Given the description of an element on the screen output the (x, y) to click on. 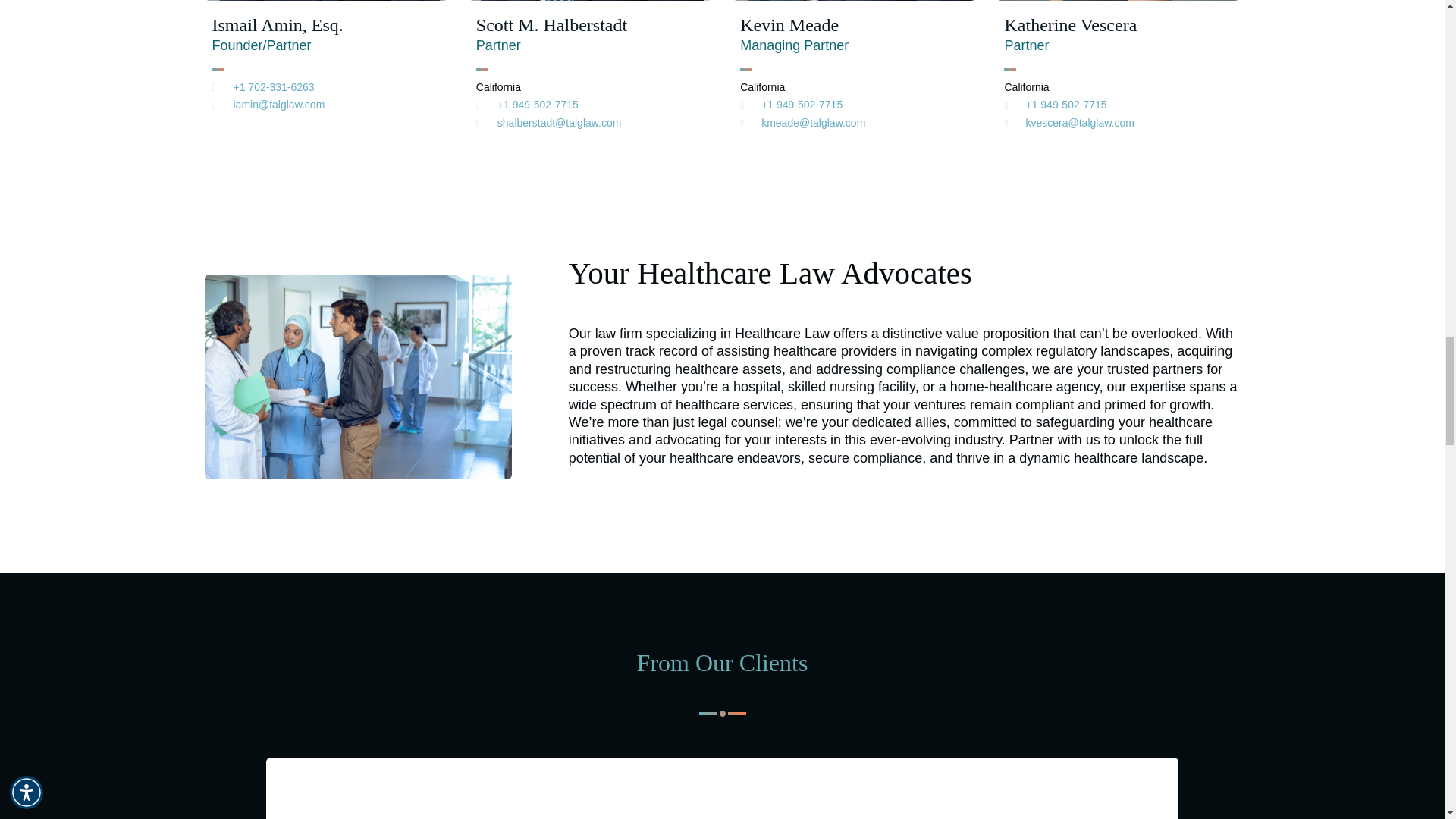
Scott M. Halberstadt (551, 25)
Kevin Meade (788, 25)
Ismail Amin, Esq. (277, 25)
